Given the description of an element on the screen output the (x, y) to click on. 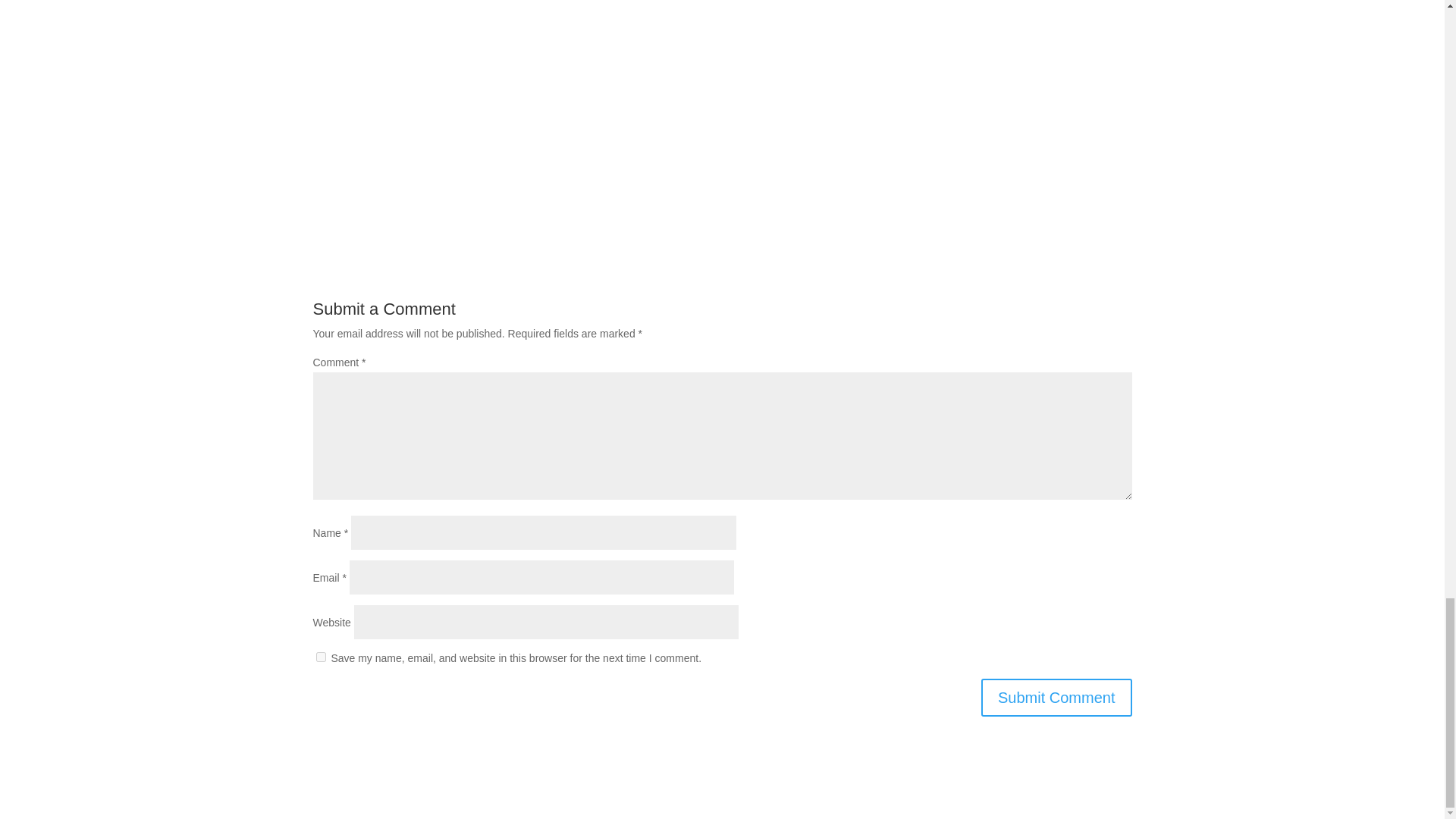
Submit Comment (1056, 697)
Submit Comment (1056, 697)
yes (319, 656)
